Given the description of an element on the screen output the (x, y) to click on. 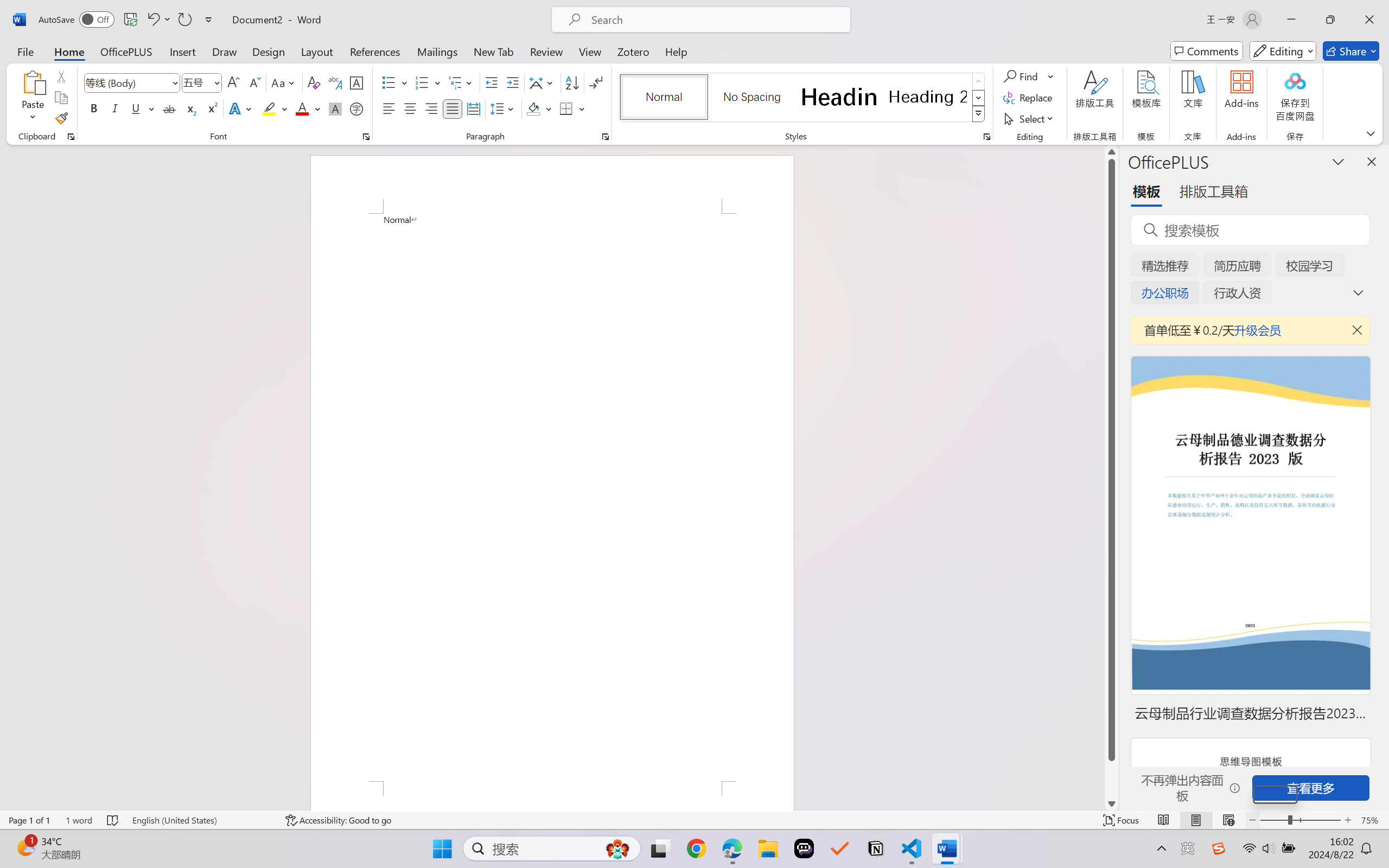
Italic (115, 108)
Font (132, 82)
Text Highlight Color (274, 108)
Row Down (978, 97)
Find (1022, 75)
Font... (365, 136)
Accessibility Checker Accessibility: Good to go (338, 819)
Underline (135, 108)
Distributed (473, 108)
Read Mode (1163, 819)
Text Effects and Typography (241, 108)
